Given the description of an element on the screen output the (x, y) to click on. 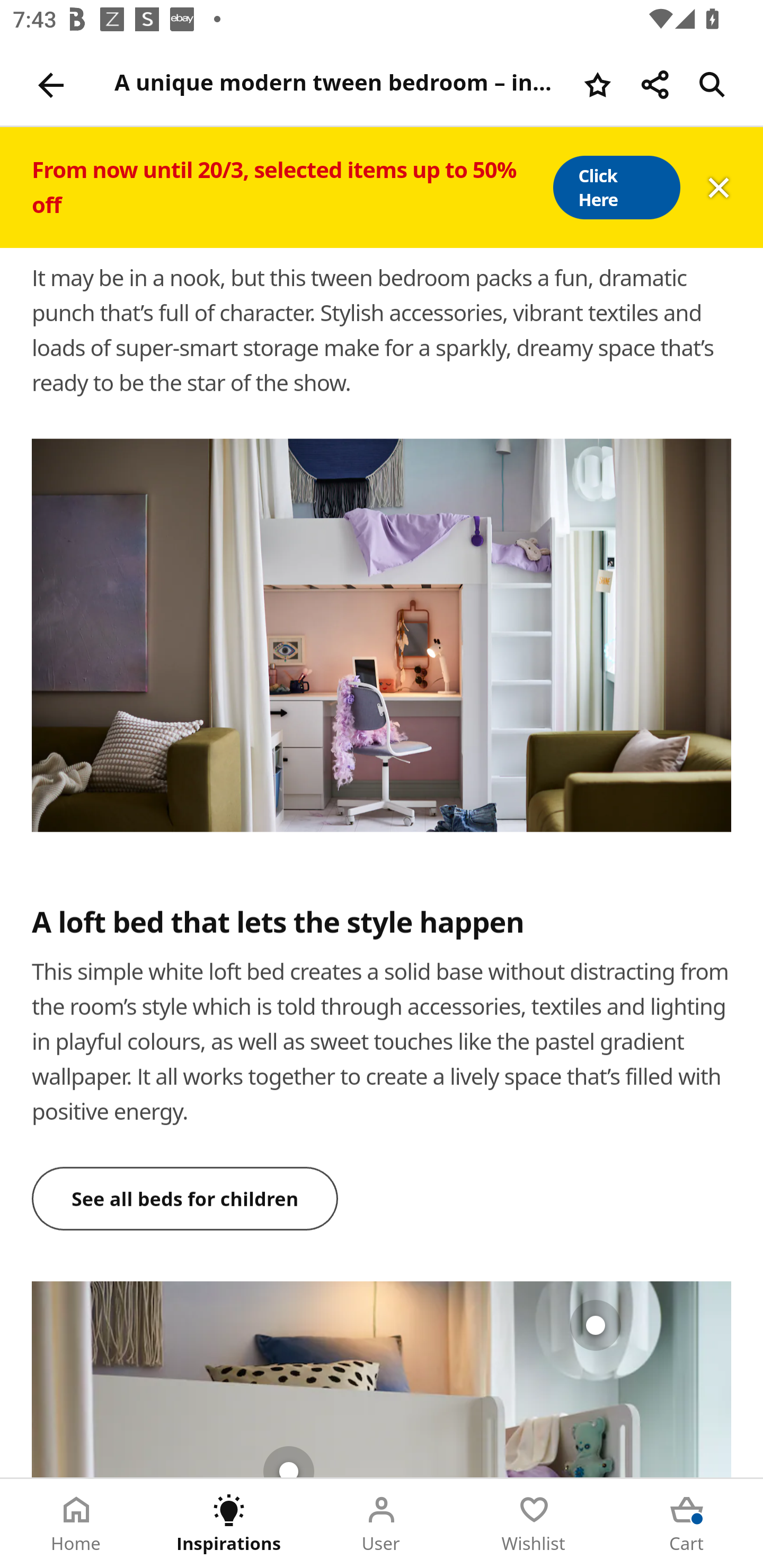
Click Here (615, 187)
See all beds for children (185, 1198)
Home
Tab 1 of 5 (76, 1522)
Inspirations
Tab 2 of 5 (228, 1522)
User
Tab 3 of 5 (381, 1522)
Wishlist
Tab 4 of 5 (533, 1522)
Cart
Tab 5 of 5 (686, 1522)
